Given the description of an element on the screen output the (x, y) to click on. 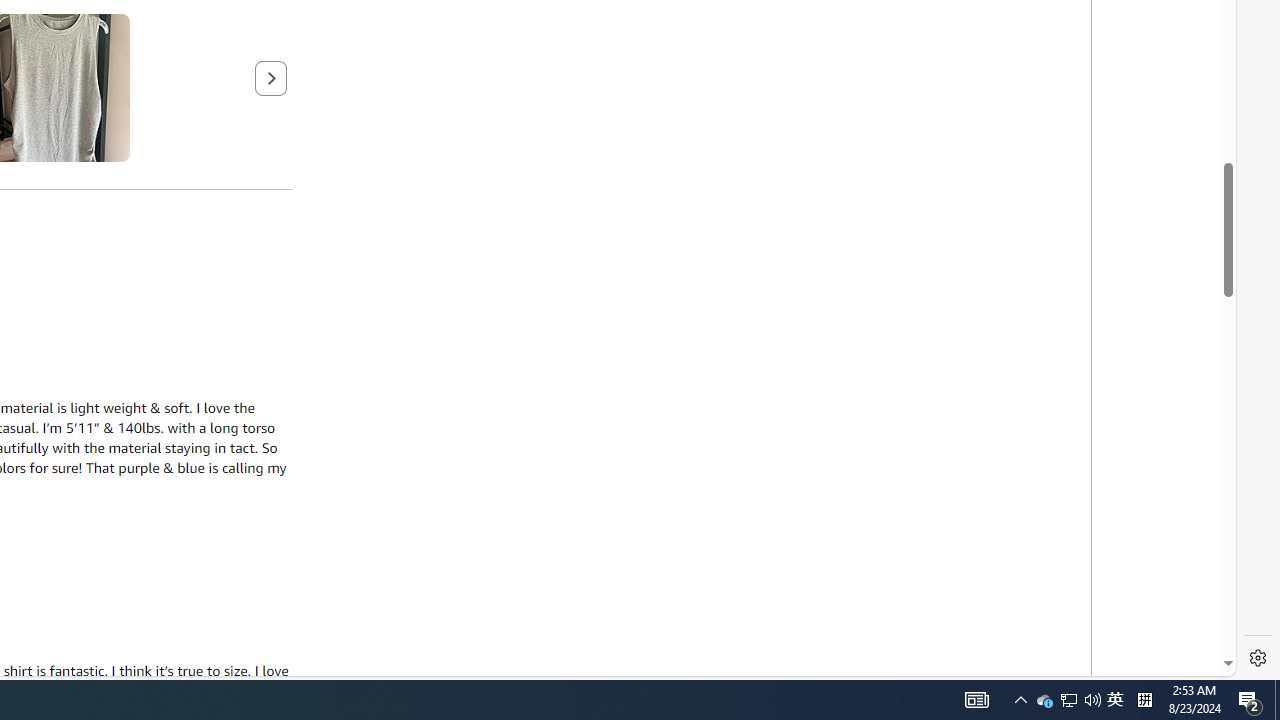
Next page (271, 77)
